Given the description of an element on the screen output the (x, y) to click on. 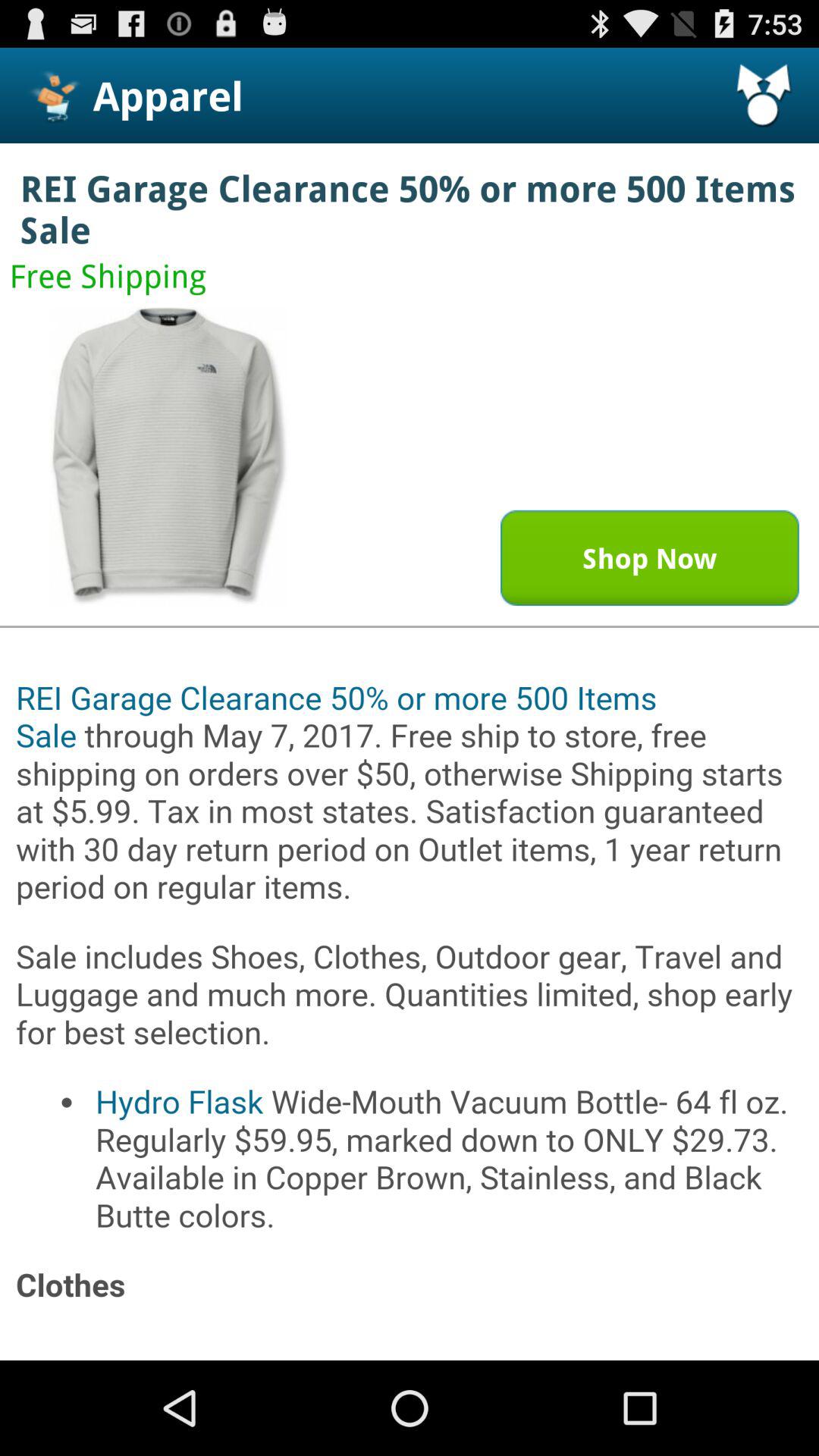
view a bigger picture (168, 456)
